Given the description of an element on the screen output the (x, y) to click on. 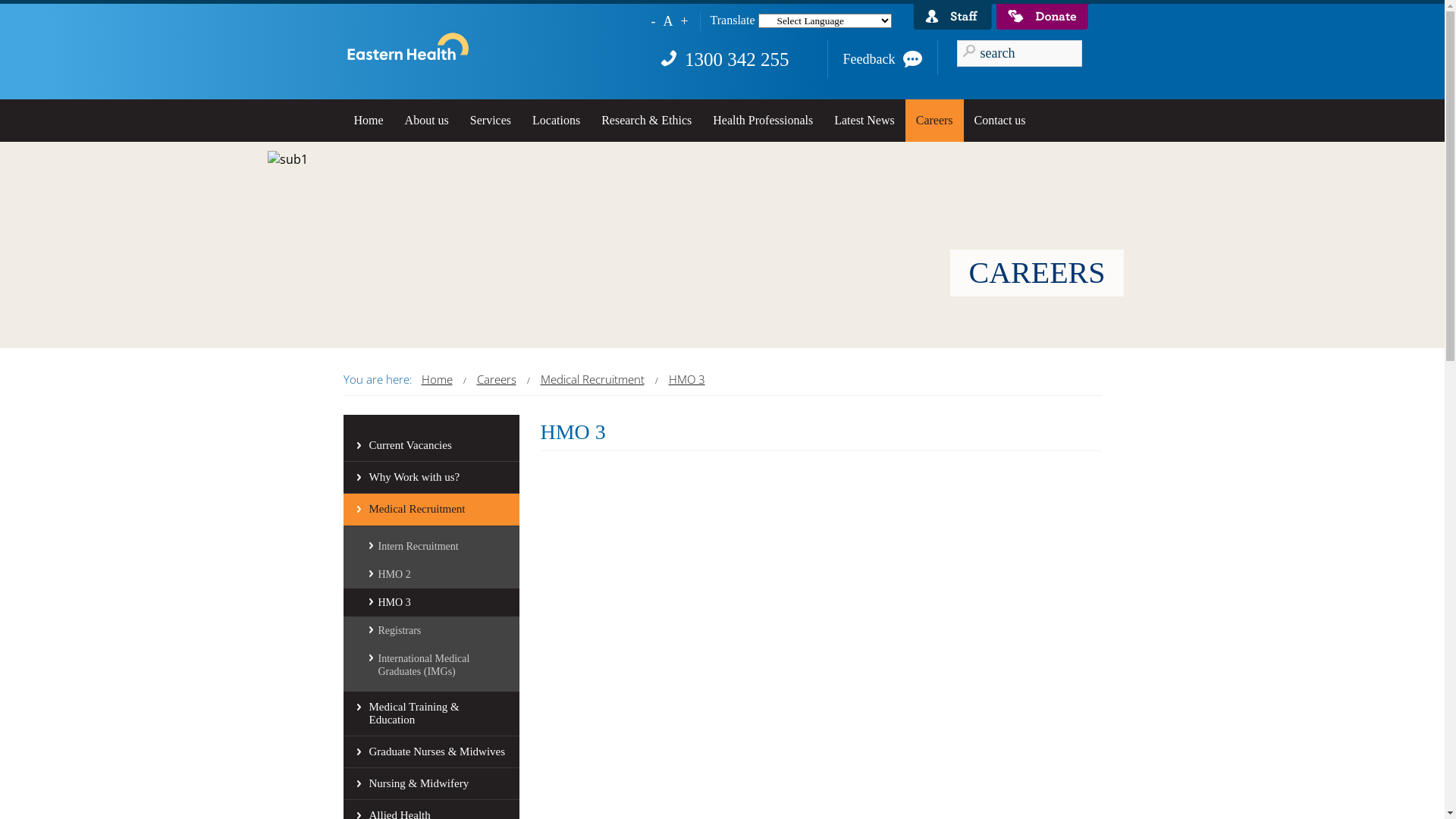
Home Element type: text (436, 378)
- Element type: text (652, 21)
Services Element type: text (490, 120)
Careers Element type: text (934, 120)
Locations Element type: text (555, 120)
Medical Recruitment Element type: text (591, 378)
Nursing & Midwifery Element type: text (430, 784)
HMO 3 Element type: text (430, 602)
HMO 2 Element type: text (430, 574)
+ Element type: text (683, 21)
International Medical Graduates (IMGs) Element type: text (430, 664)
Health Professionals Element type: text (762, 120)
Intern Recruitment Element type: text (430, 546)
A Element type: text (667, 21)
Medical Training & Education Element type: text (430, 713)
HMO 3 Element type: text (686, 378)
Why Work with us? Element type: text (430, 477)
Graduate Nurses & Midwives Element type: text (430, 752)
About us Element type: text (426, 120)
Home Element type: text (367, 120)
Registrars Element type: text (430, 630)
Research & Ethics Element type: text (646, 120)
Current Vacancies Element type: text (430, 445)
Latest News Element type: text (864, 120)
Medical Recruitment Element type: text (430, 509)
Careers Element type: text (495, 378)
Contact us Element type: text (999, 120)
